Given the description of an element on the screen output the (x, y) to click on. 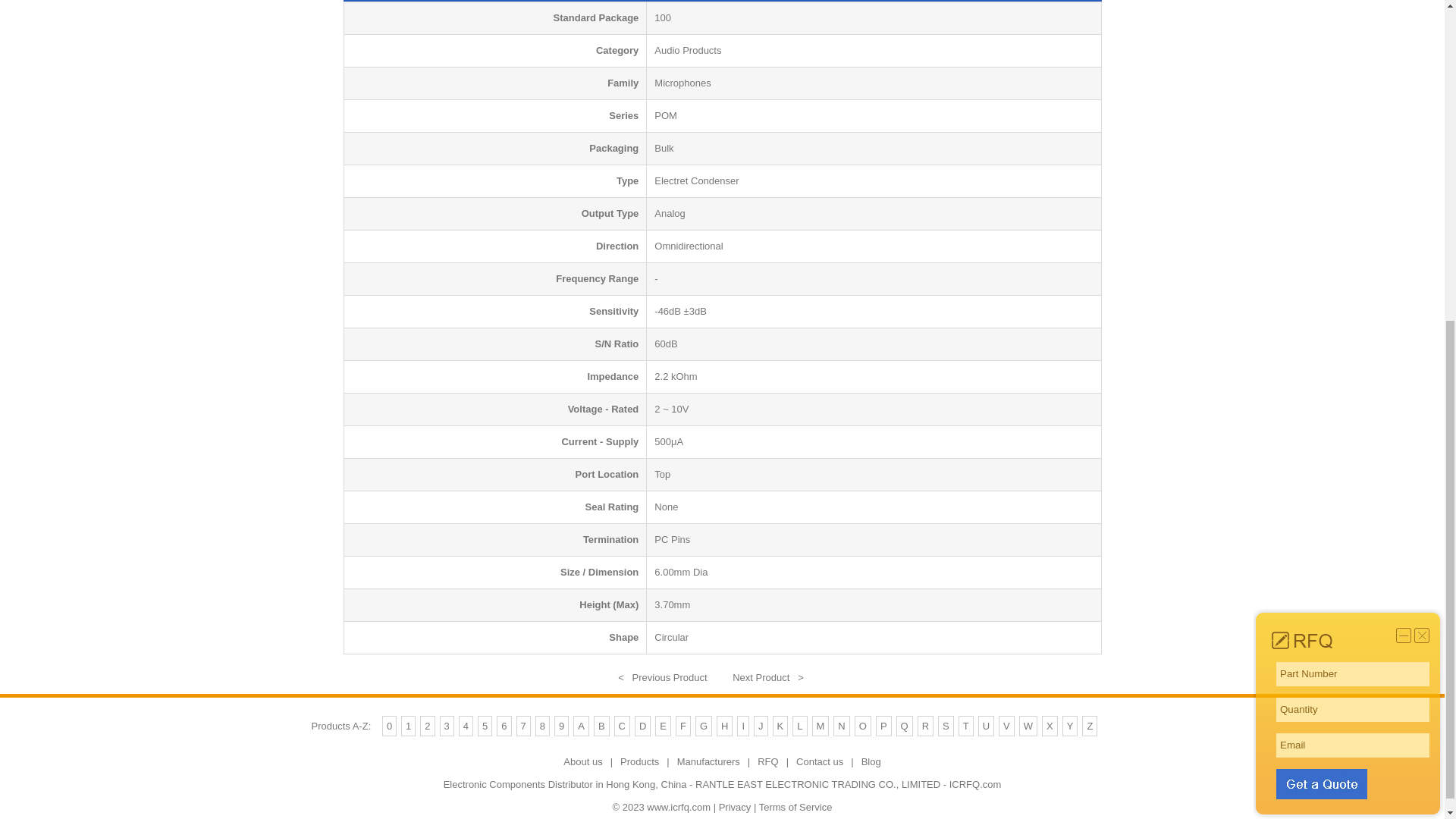
Part Number (1352, 143)
ROM-2238S-NF (661, 677)
PUM-3546L (767, 677)
Audio Products (686, 50)
Microphones (681, 82)
Email (1352, 214)
Quantity (1352, 178)
